Given the description of an element on the screen output the (x, y) to click on. 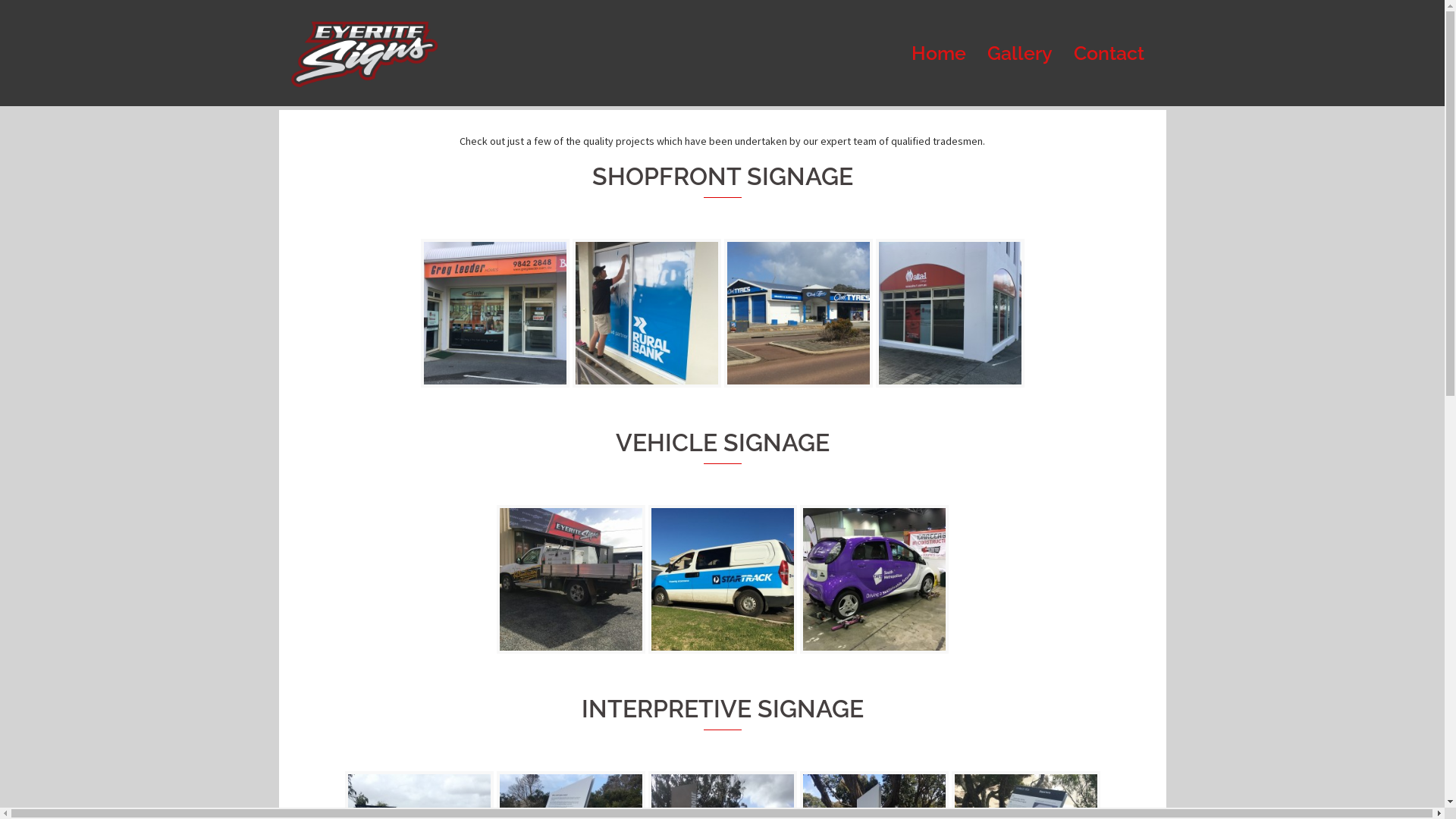
Greg Leeder Homes Element type: hover (494, 312)
Star Track Element type: hover (722, 579)
Clark Tyres Albany Element type: hover (797, 312)
A1 Sandblasting & Spray Painting Element type: hover (570, 579)
Contact Element type: text (1108, 53)
Rural Bank Element type: hover (645, 312)
Alta1 Colleges Element type: hover (949, 312)
Home Element type: text (938, 53)
South Regional Tafe Element type: hover (873, 579)
Gallery Element type: text (1019, 53)
